Given the description of an element on the screen output the (x, y) to click on. 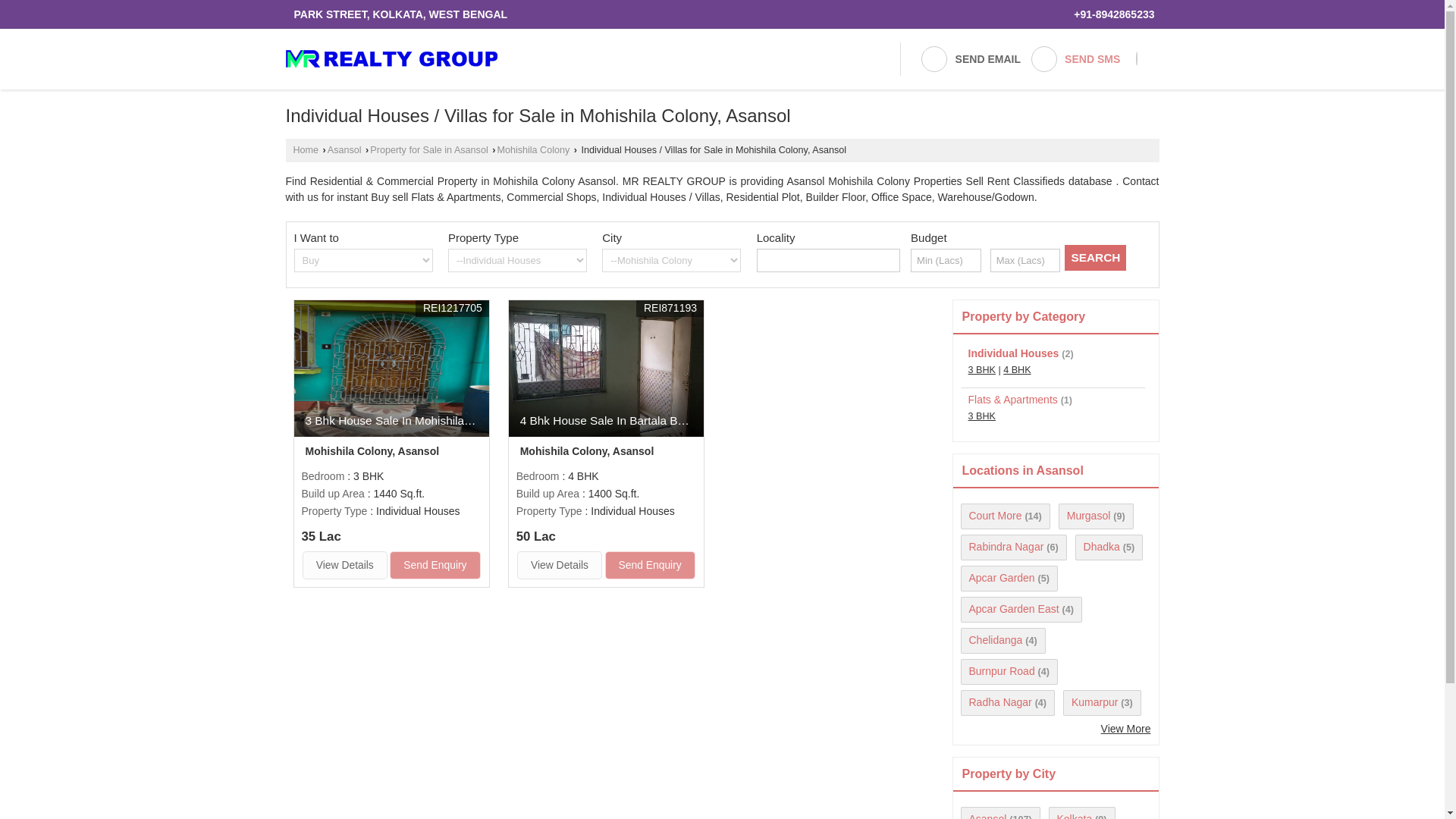
SEND SMS (1075, 59)
SEARCH (1094, 257)
SEND EMAIL (970, 59)
MR REALTY GROUP (390, 58)
